Given the description of an element on the screen output the (x, y) to click on. 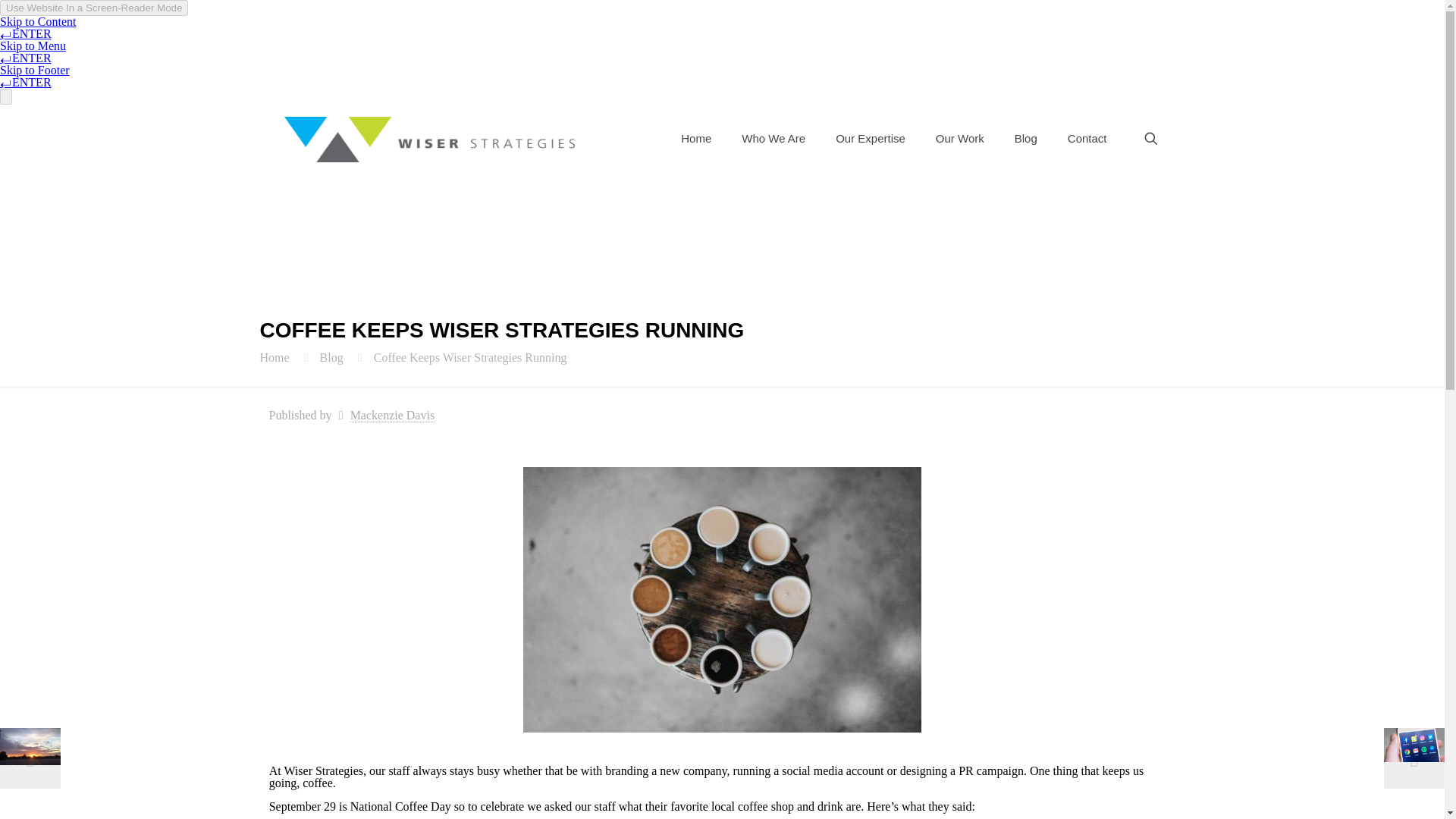
Blog (1025, 138)
Our Work (959, 138)
Who We Are (773, 138)
Wiser Strategies (428, 138)
Our Expertise (870, 138)
Home (695, 138)
